Given the description of an element on the screen output the (x, y) to click on. 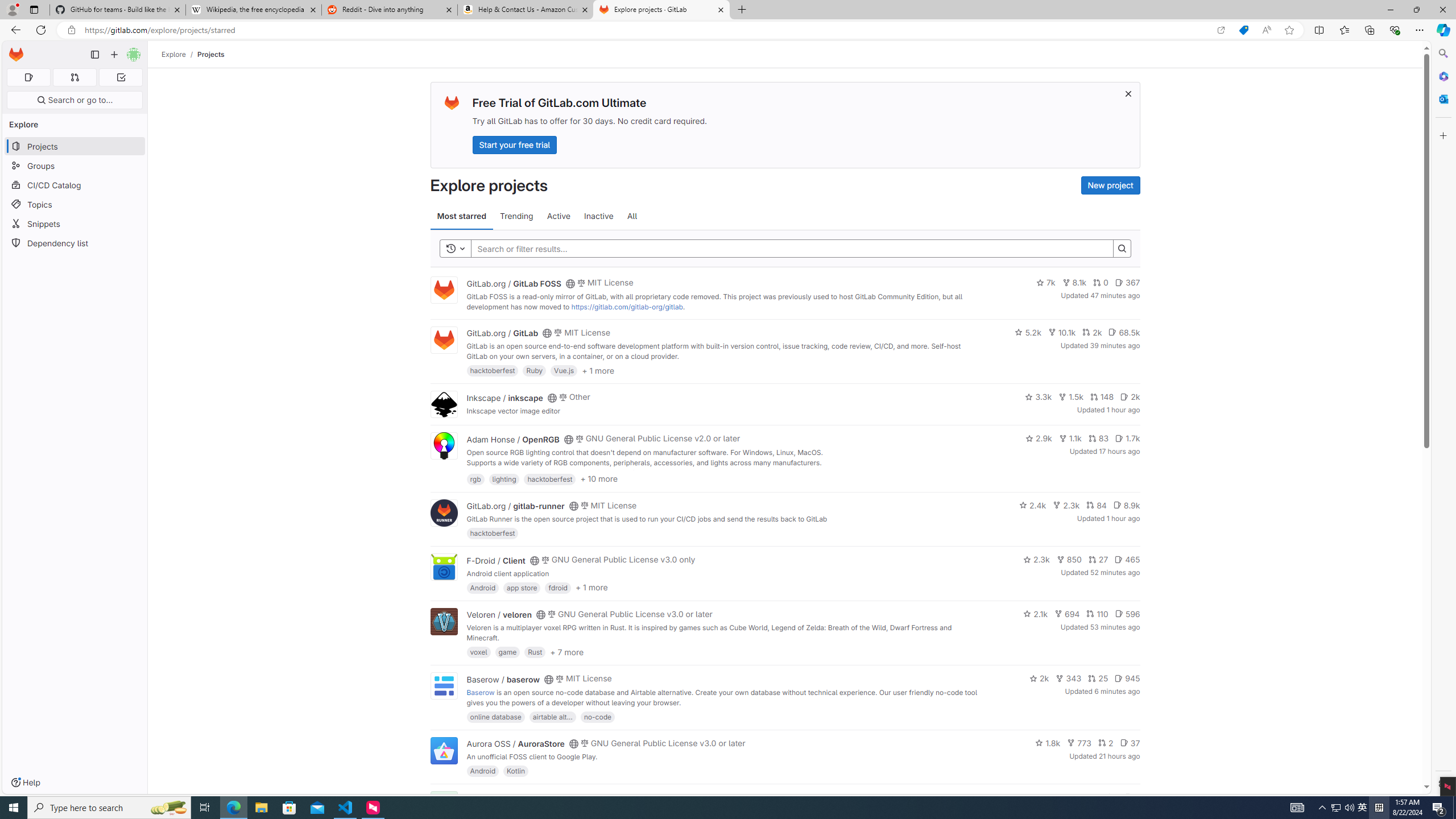
https://gitlab.com/gitlab-org/gitlab (626, 306)
F-Droid / Client (495, 560)
Explore (173, 53)
+ 7 more (566, 651)
Groups (74, 165)
Homepage (16, 54)
no-code (597, 715)
Dependency list (74, 242)
All (632, 216)
